Given the description of an element on the screen output the (x, y) to click on. 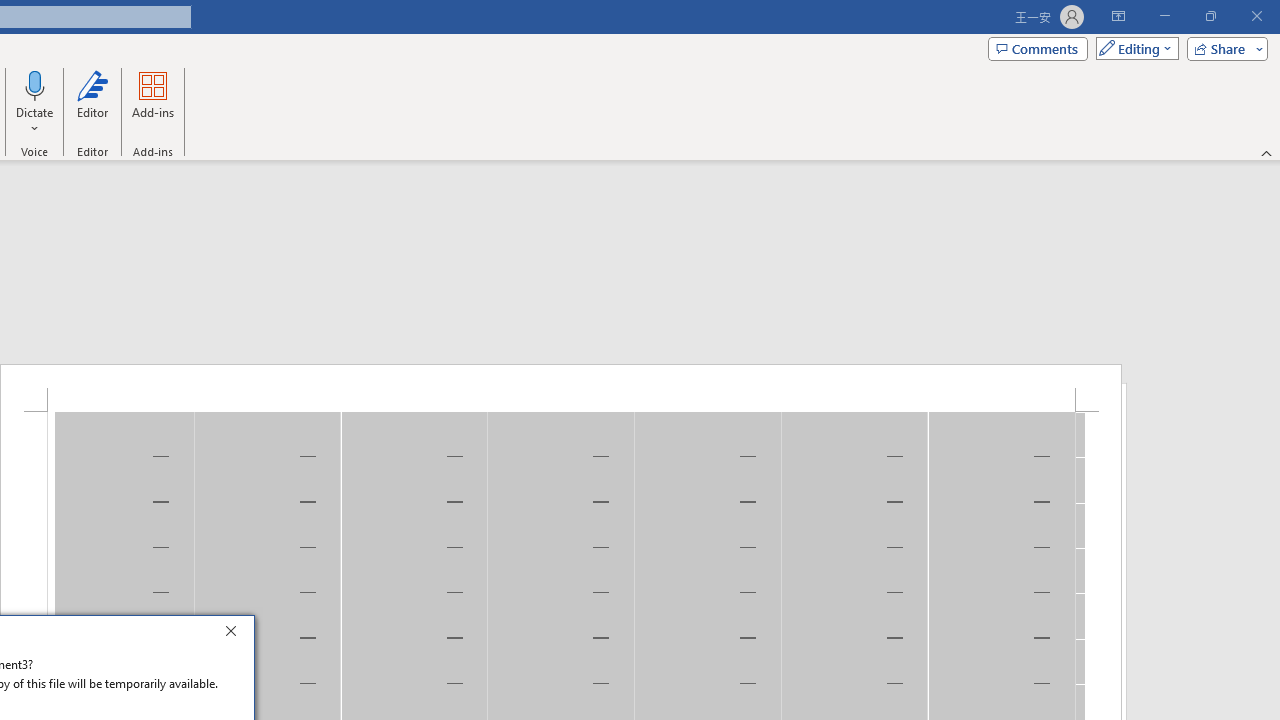
Dictate (35, 102)
Minimize (1164, 16)
Restore Down (1210, 16)
Collapse the Ribbon (1267, 152)
Share (1223, 48)
More Options (35, 121)
Dictate (35, 84)
Editor (92, 102)
Close (236, 633)
Header -Section 1- (561, 387)
Mode (1133, 47)
Comments (1038, 48)
